Given the description of an element on the screen output the (x, y) to click on. 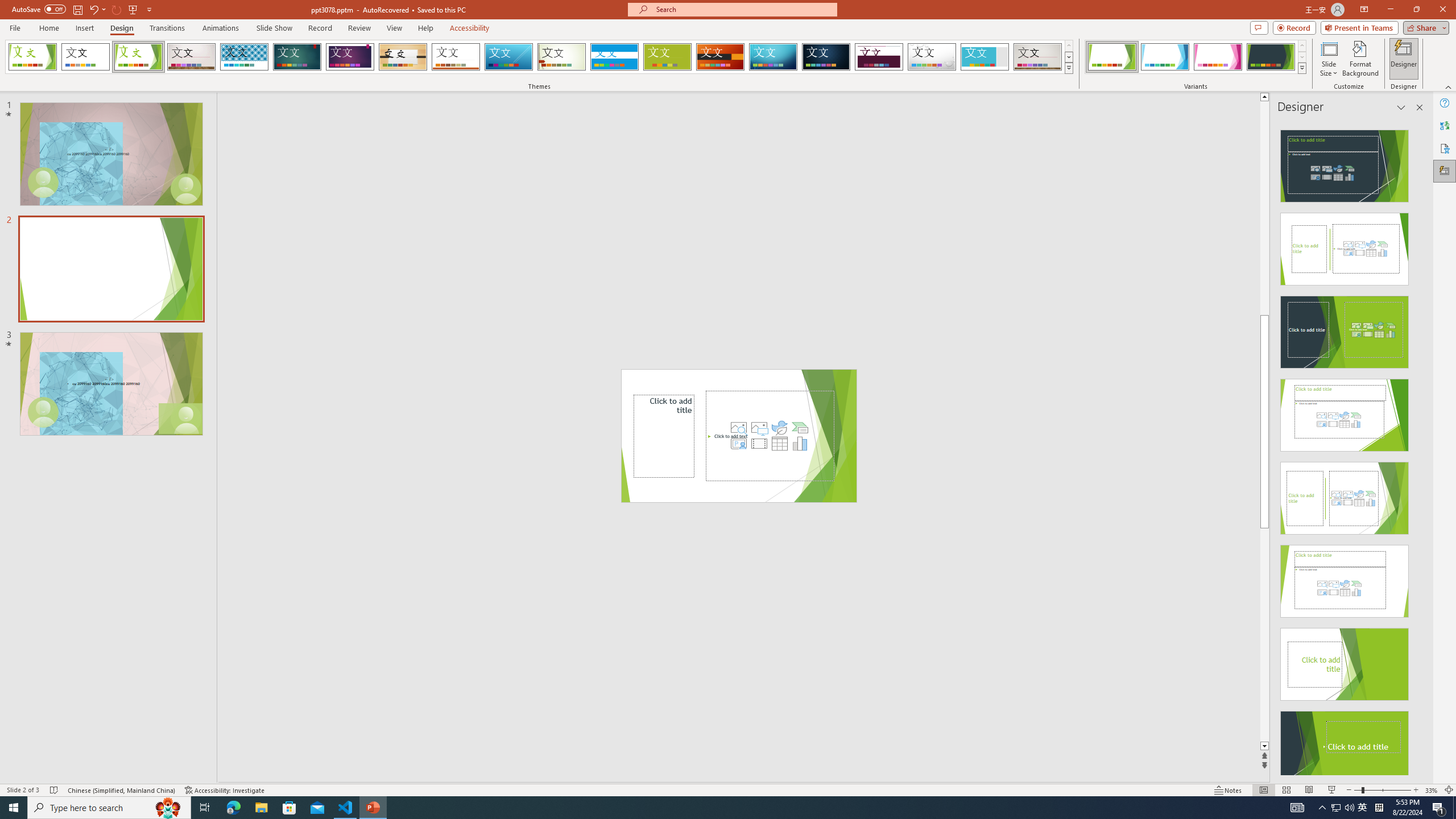
Slice (508, 56)
Office Theme (85, 56)
Zoom 33% (1431, 790)
Pictures (758, 427)
Design Idea (1344, 743)
